Given the description of an element on the screen output the (x, y) to click on. 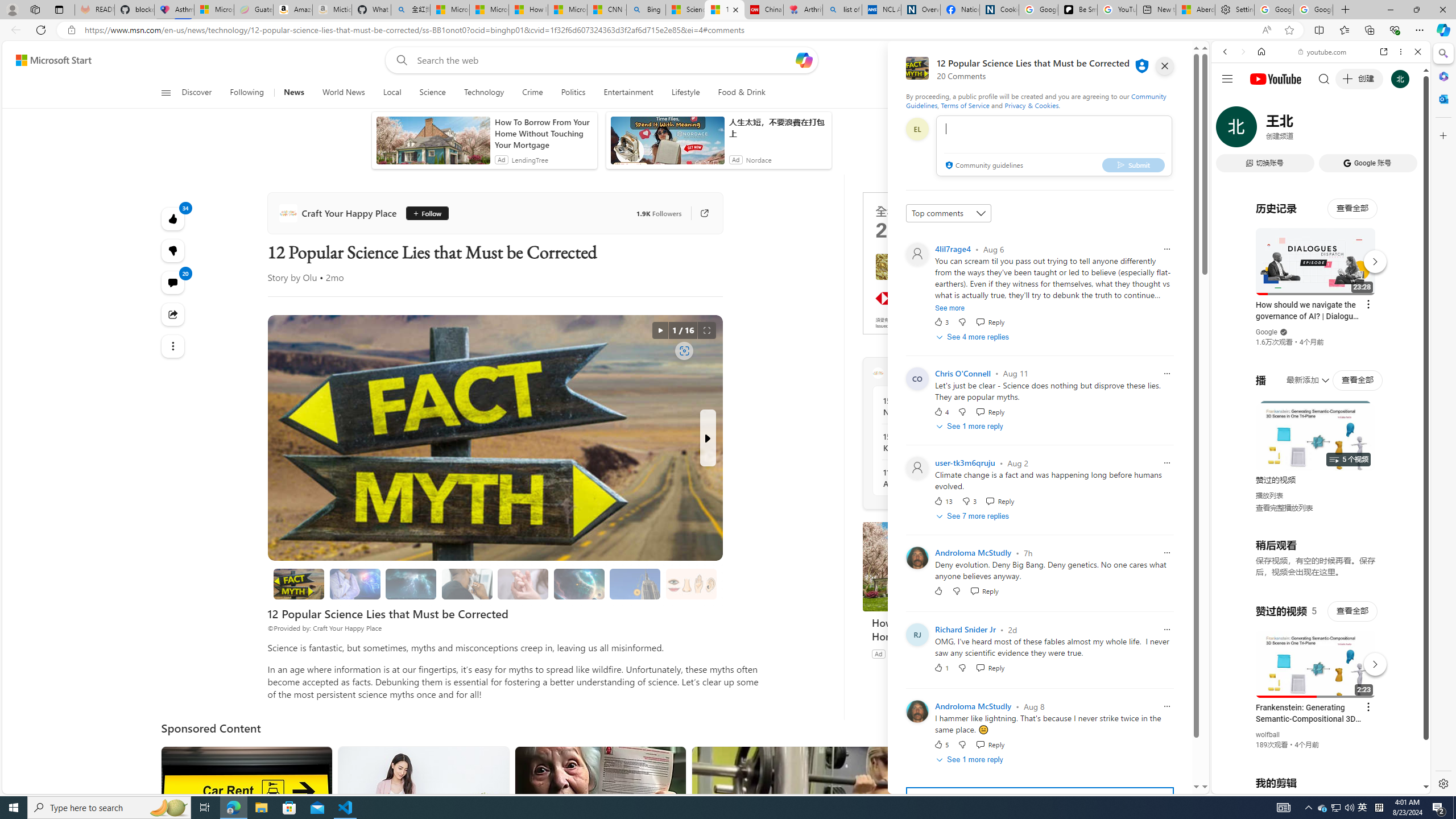
Bing (646, 9)
Human Senses (690, 583)
1 Like (940, 667)
wolfball (1268, 734)
See 7 more replies (973, 516)
